Given the description of an element on the screen output the (x, y) to click on. 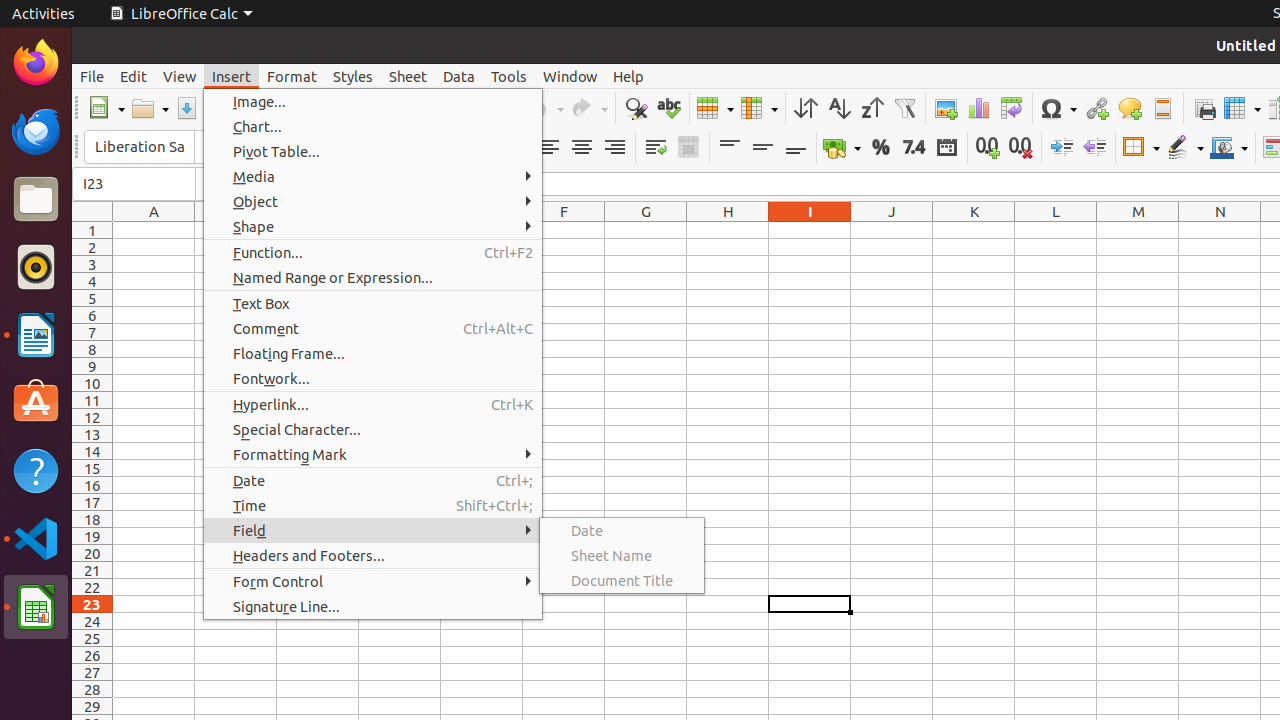
New Element type: push-button (106, 108)
Percent Element type: push-button (880, 147)
View Element type: menu (179, 76)
I1 Element type: table-cell (810, 230)
N1 Element type: table-cell (1220, 230)
